Given the description of an element on the screen output the (x, y) to click on. 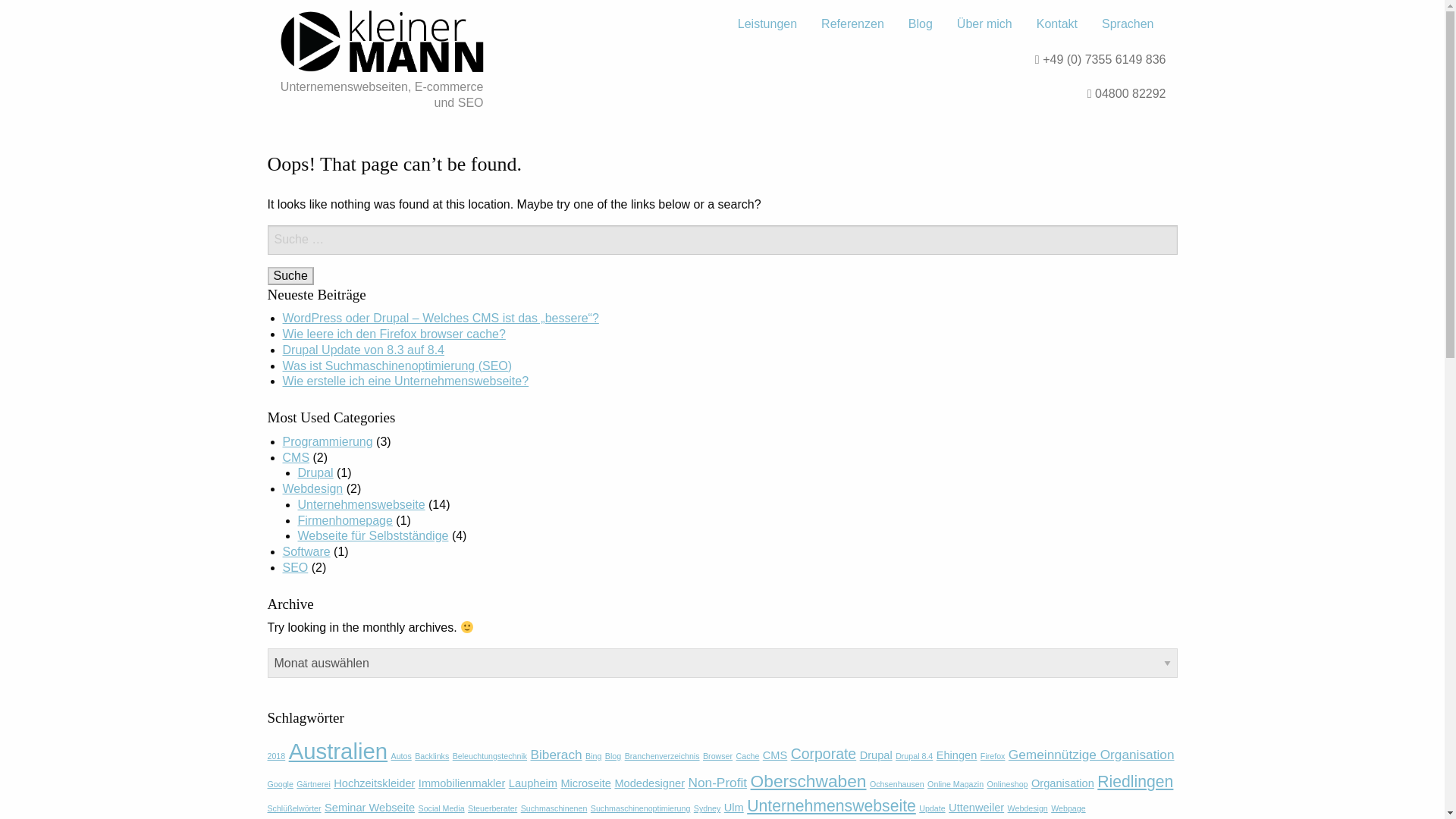
CMS (295, 456)
Cache (748, 755)
Unternehmenswebseite (361, 504)
Suche (289, 275)
Backlinks (431, 755)
Leistungen (767, 24)
Wie leere ich den Firefox browser cache? (393, 333)
Australien (337, 750)
Autos (401, 755)
Sprachen (1127, 24)
